Given the description of an element on the screen output the (x, y) to click on. 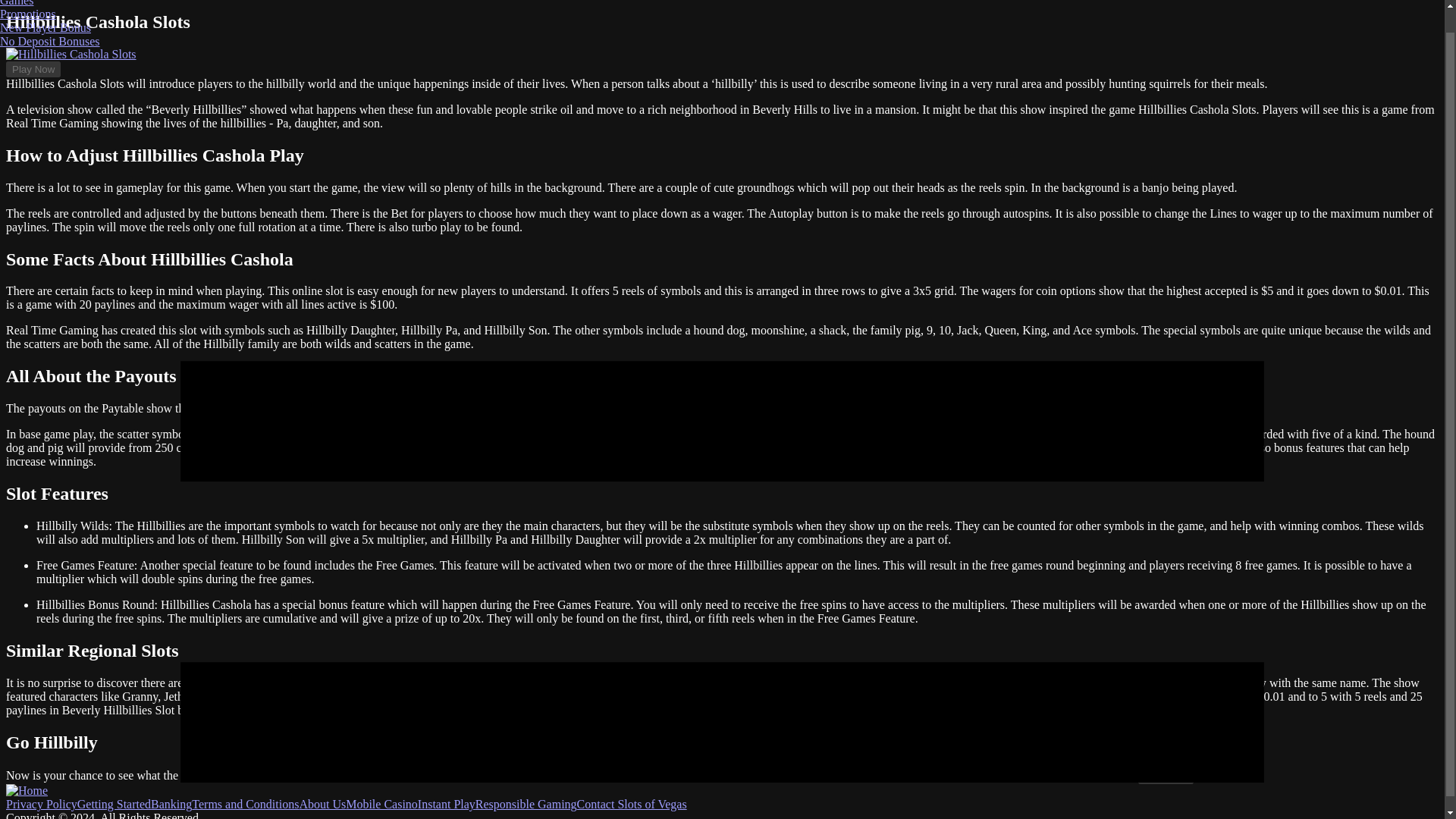
About Us (322, 803)
Getting Started (114, 803)
Mobile Casino (381, 803)
Responsible Gaming (526, 803)
Banking (171, 803)
Instant Play (446, 803)
Play Now (1165, 775)
Terms and Conditions (245, 803)
Privacy Policy (41, 803)
Play Now (33, 68)
